Given the description of an element on the screen output the (x, y) to click on. 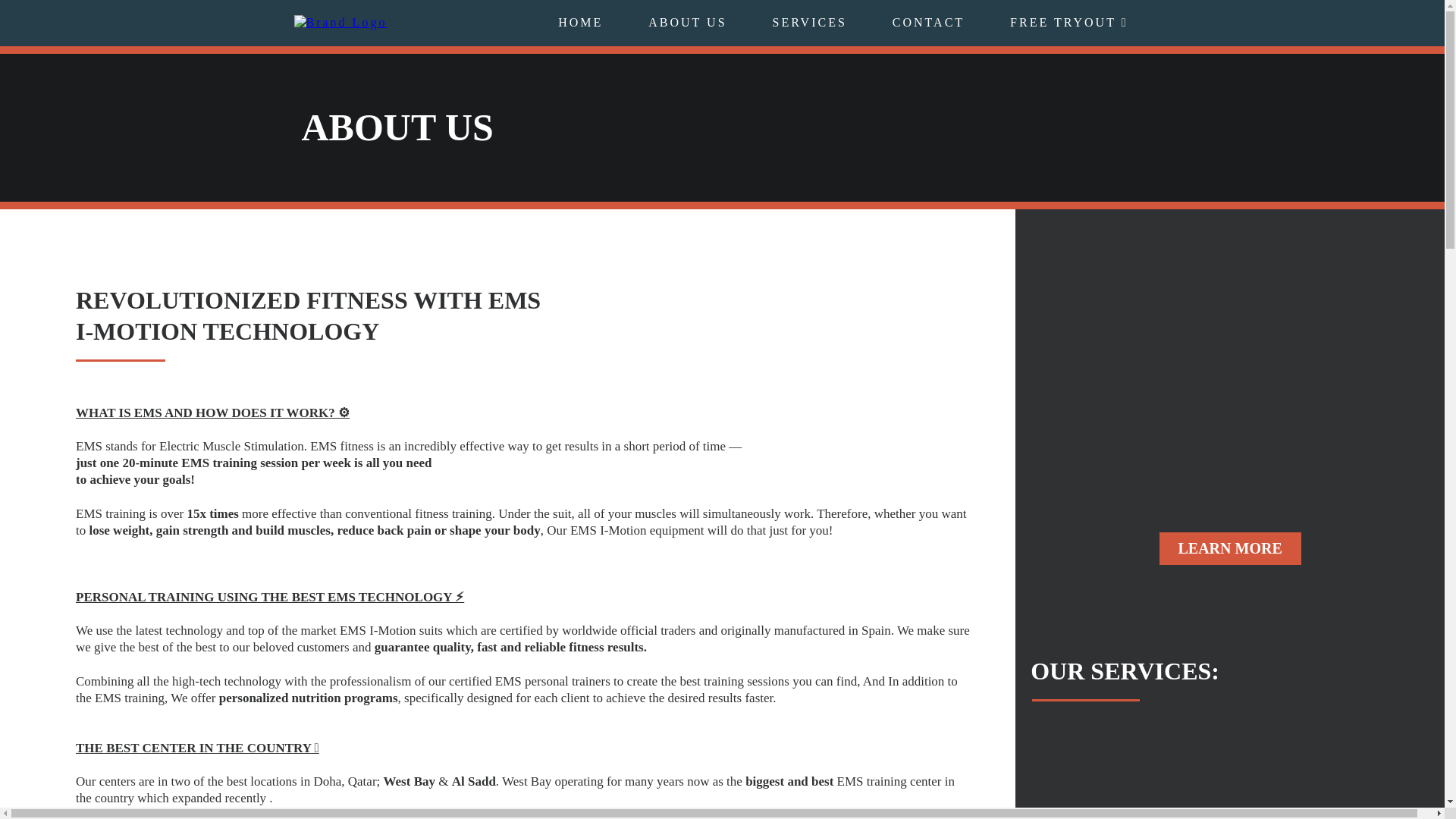
HOME (580, 23)
CONTACT (928, 23)
SERVICES (809, 23)
ABOUT US (687, 23)
LEARN MORE (1229, 548)
